Given the description of an element on the screen output the (x, y) to click on. 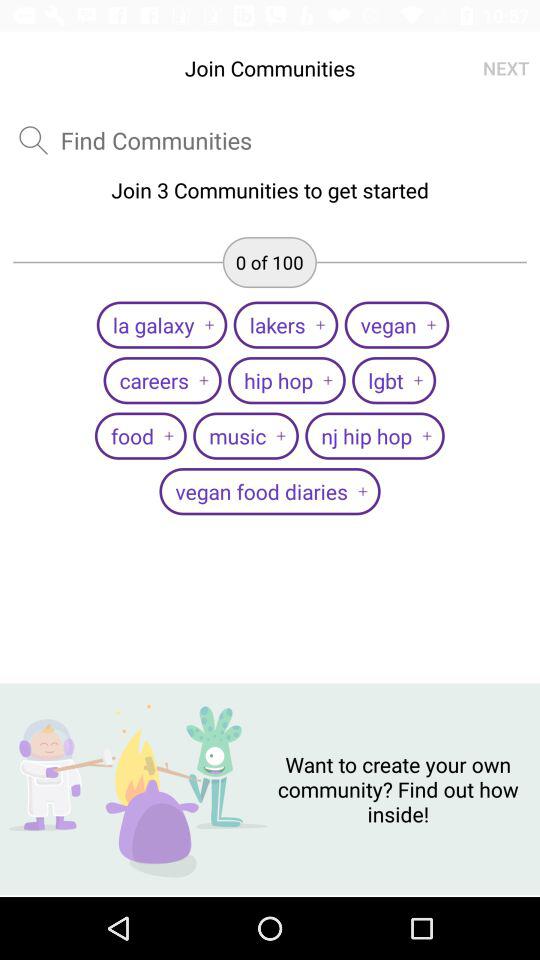
text box for enter communities (156, 140)
